Given the description of an element on the screen output the (x, y) to click on. 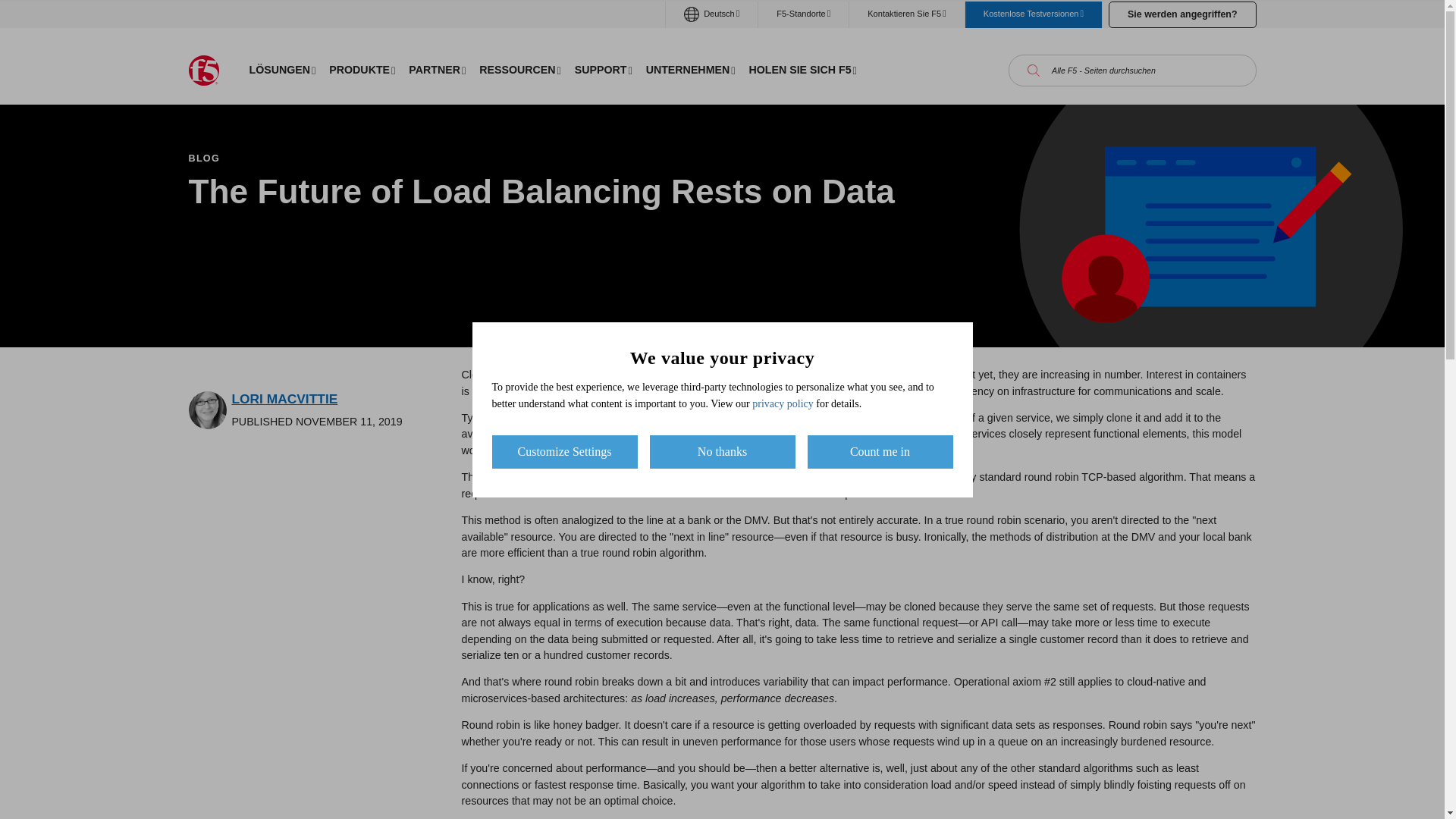
Deutsch (711, 13)
HOLEN SIE SICH F5 (802, 69)
PARTNER (436, 69)
F5 (202, 70)
UNTERNEHMEN (690, 69)
SUPPORT (603, 69)
PRODUKTE (361, 69)
RESSOURCEN (519, 69)
Sie werden angegriffen? (1181, 14)
Kostenlose Testversionen (1033, 13)
LORI MACVITTIE (284, 398)
F5-Standorte (803, 13)
Kontaktieren Sie F5 (905, 13)
